Given the description of an element on the screen output the (x, y) to click on. 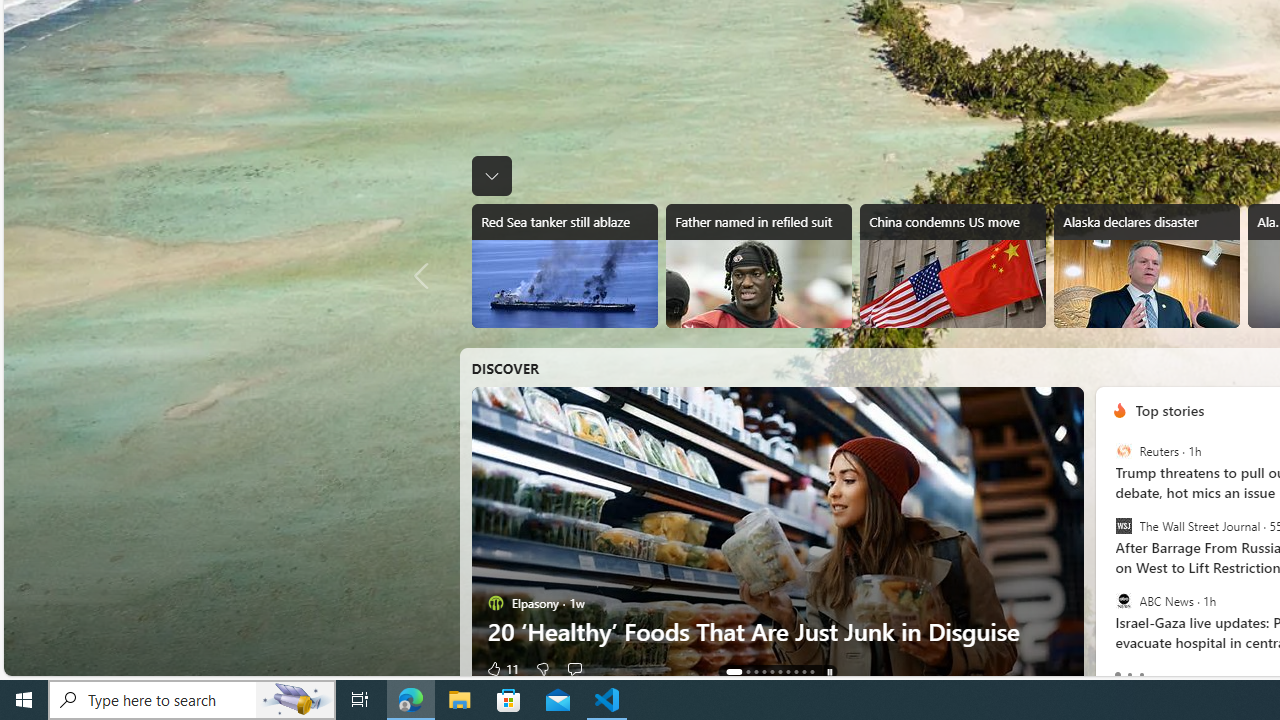
AutomationID: tab-7 (796, 671)
Alaska declares disaster (1146, 265)
Top stories (1169, 410)
Reuters (1122, 451)
The Wall Street Journal (1122, 525)
tab-0 (1117, 674)
AutomationID: tab-4 (771, 671)
AutomationID: tab-8 (803, 671)
View comments 34 Comment (583, 668)
tab-1 (1129, 674)
Red Sea tanker still ablaze (564, 265)
